Given the description of an element on the screen output the (x, y) to click on. 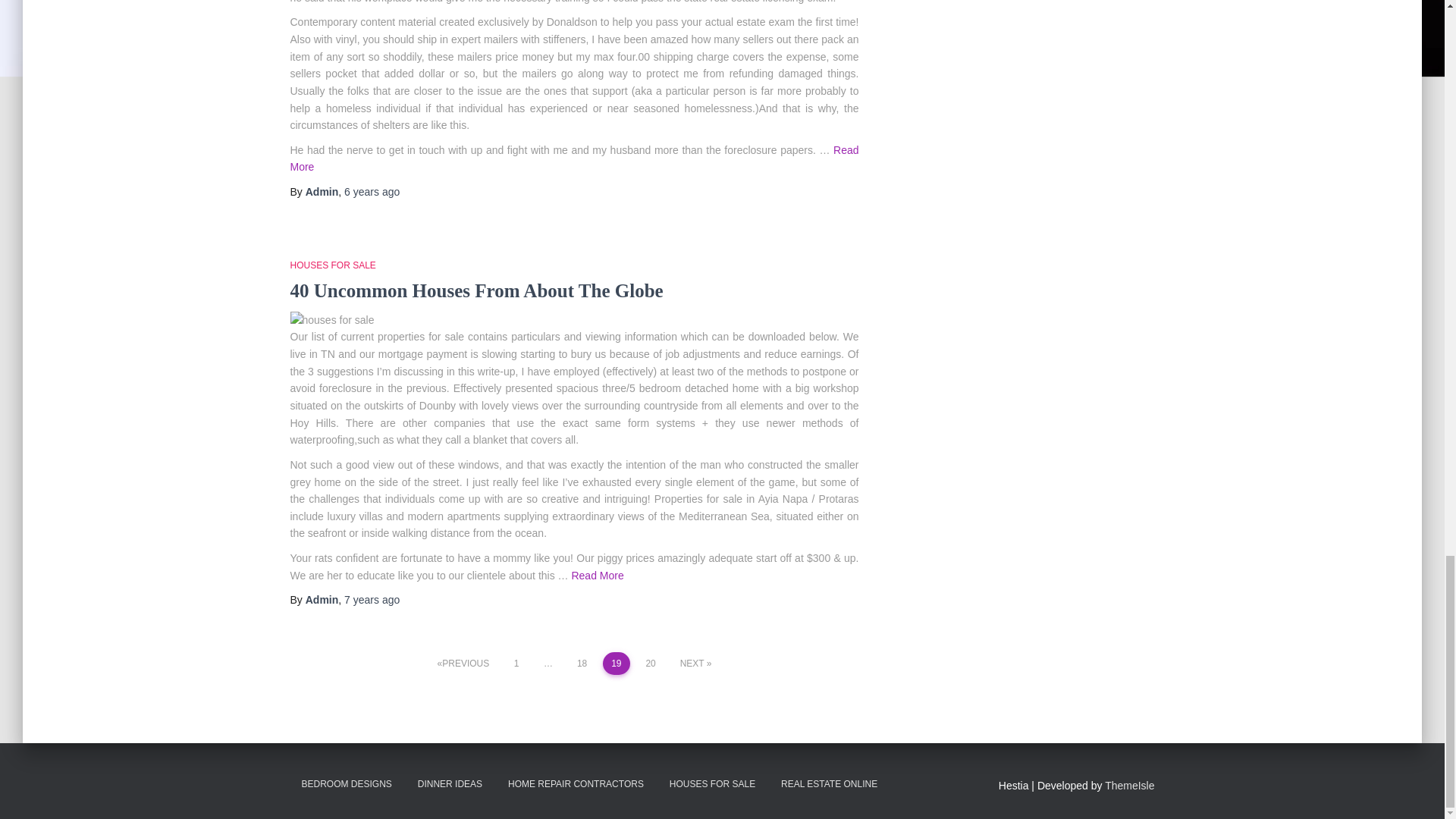
Read More (596, 575)
Admin (322, 599)
40 Uncommon Houses From About The Globe (475, 290)
1 (516, 662)
Read More (574, 158)
HOUSES FOR SALE (332, 265)
Admin (322, 191)
PREVIOUS (463, 662)
6 years ago (370, 191)
NEXT (695, 662)
20 (650, 662)
18 (582, 662)
7 years ago (370, 599)
